Given the description of an element on the screen output the (x, y) to click on. 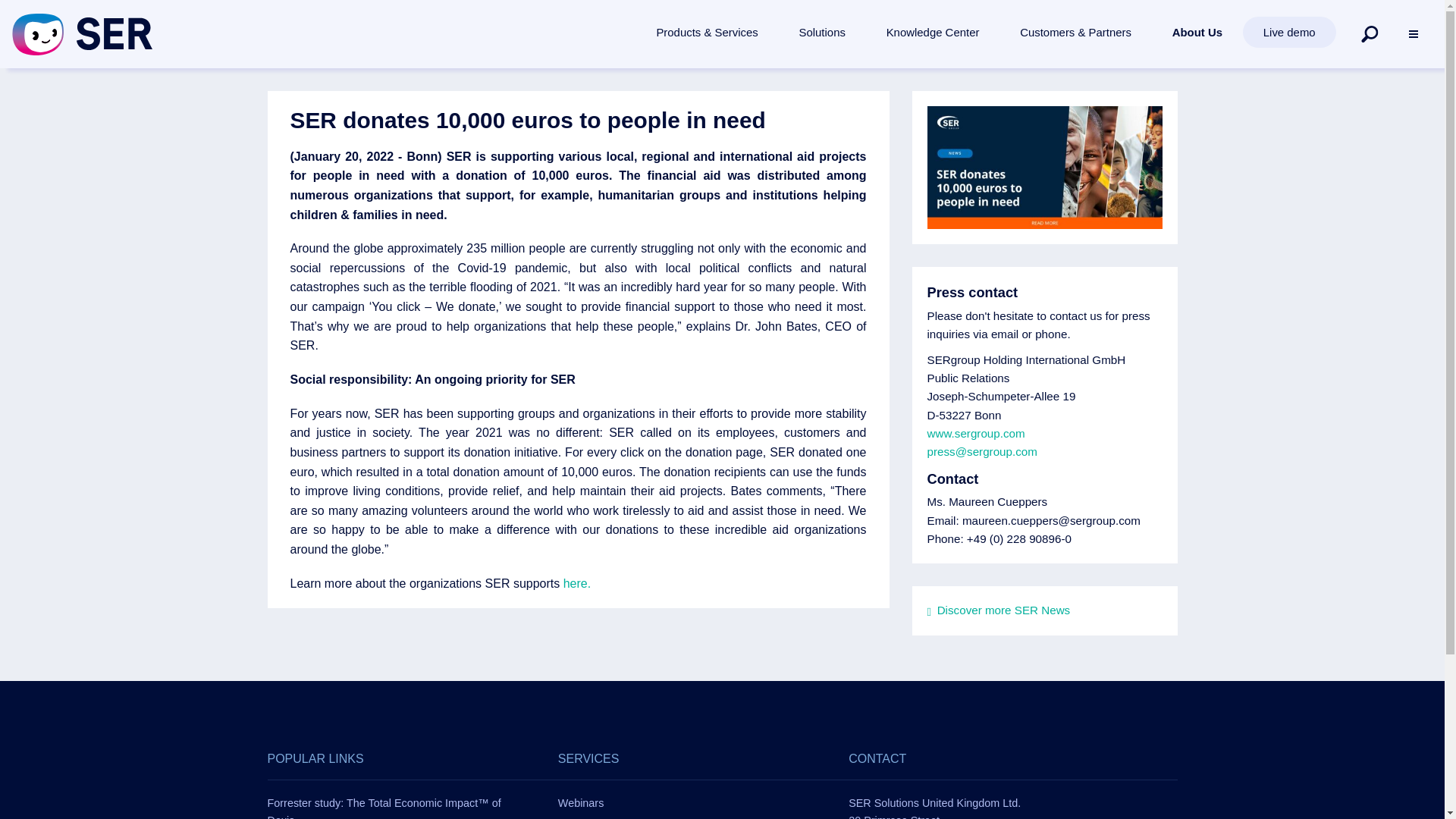
Solutions (822, 32)
Knowledge Center (933, 32)
Knowledge Center (933, 32)
Live demo (1289, 31)
About the SER Group (1197, 32)
Search (1370, 33)
